Given the description of an element on the screen output the (x, y) to click on. 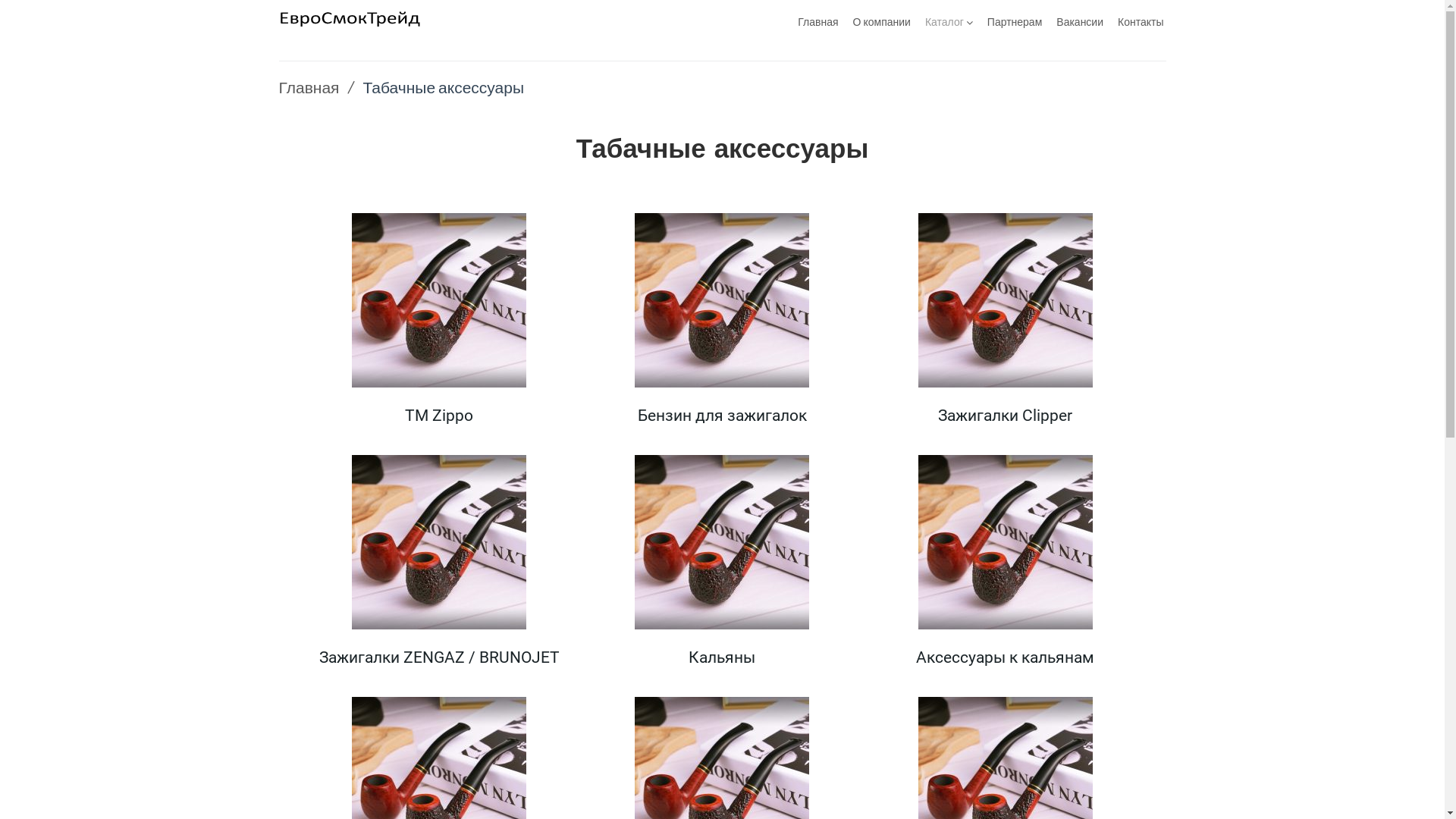
TM Zippo Element type: text (438, 415)
